Given the description of an element on the screen output the (x, y) to click on. 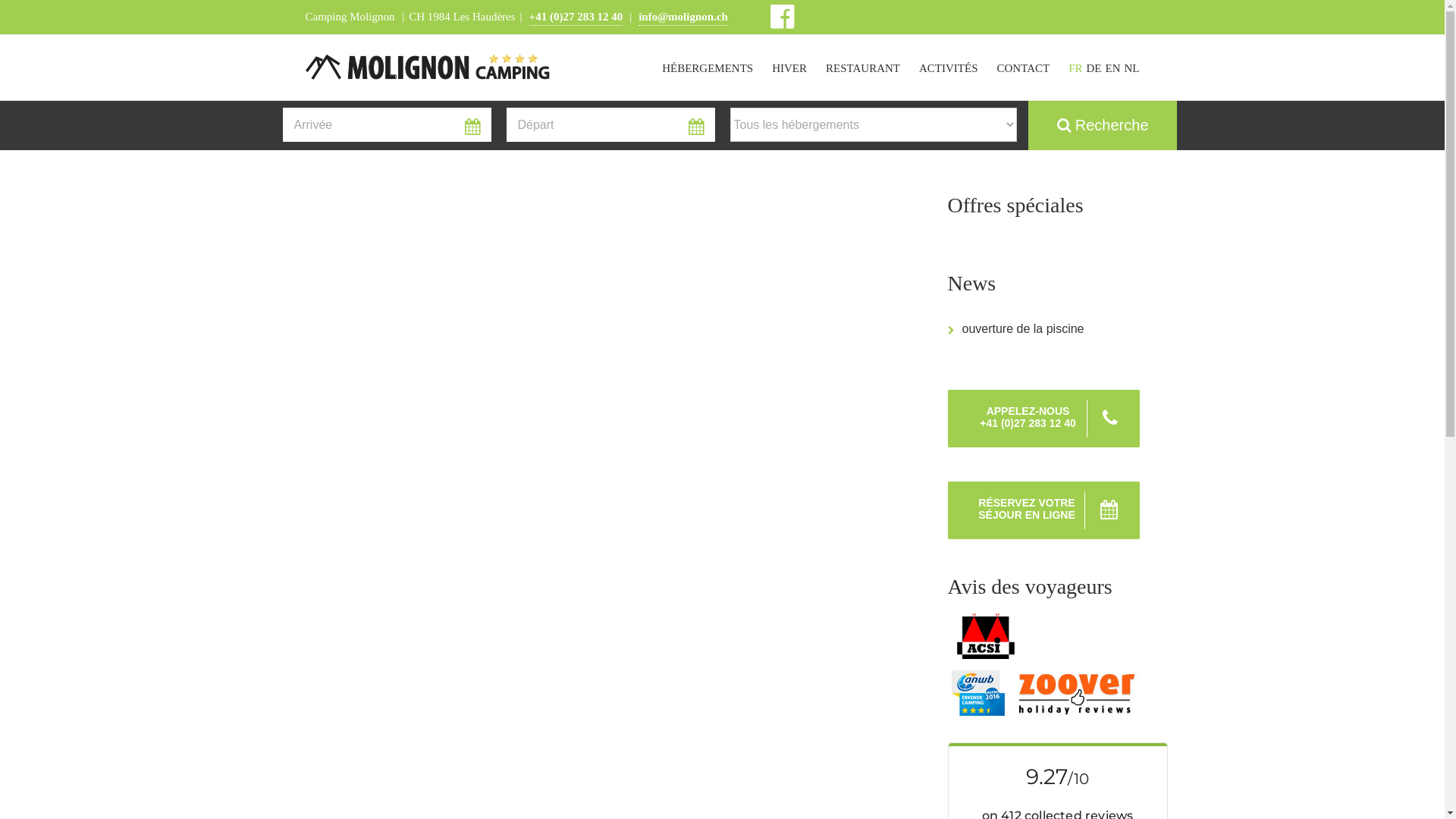
+41 (0)27 283 12 40 Element type: text (576, 17)
APPELEZ-NOUS +41 (0)27 283 12 40 Element type: text (1043, 418)
FR Element type: text (1075, 67)
News Element type: text (1043, 282)
HIVER Element type: text (788, 67)
ouverture de la piscine Element type: text (1022, 328)
NL Element type: text (1131, 67)
 Recherche Element type: text (1102, 125)
info@molignon.ch Element type: text (683, 17)
DE Element type: text (1093, 67)
RESTAURANT Element type: text (862, 67)
EN Element type: text (1112, 67)
CONTACT Element type: text (1022, 67)
